Given the description of an element on the screen output the (x, y) to click on. 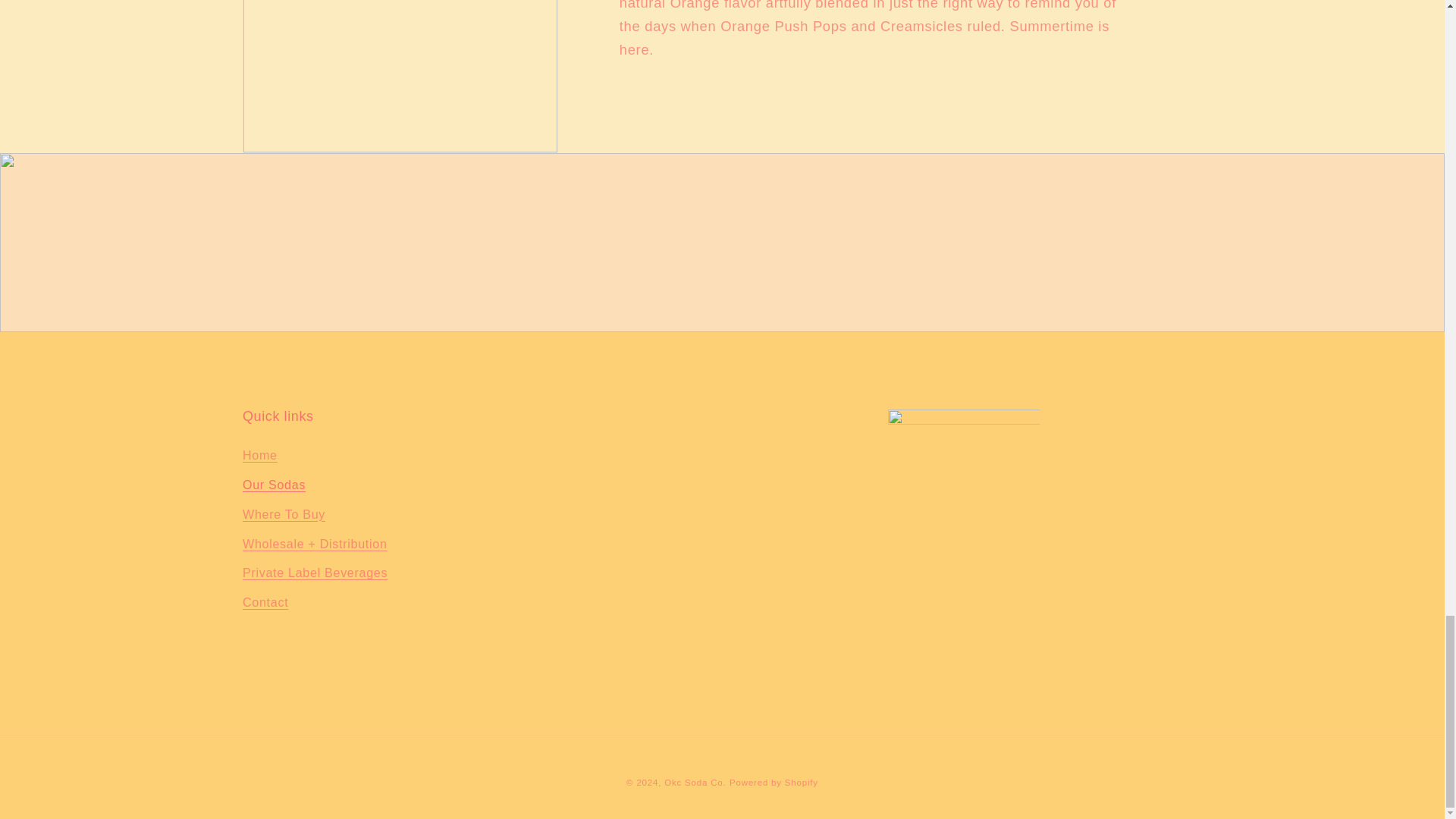
Private Label Beverages (315, 573)
Contact (265, 602)
Where To Buy (283, 514)
Powered by Shopify (773, 782)
Home (260, 457)
Okc Soda Co. (694, 782)
Our Sodas (274, 484)
